Given the description of an element on the screen output the (x, y) to click on. 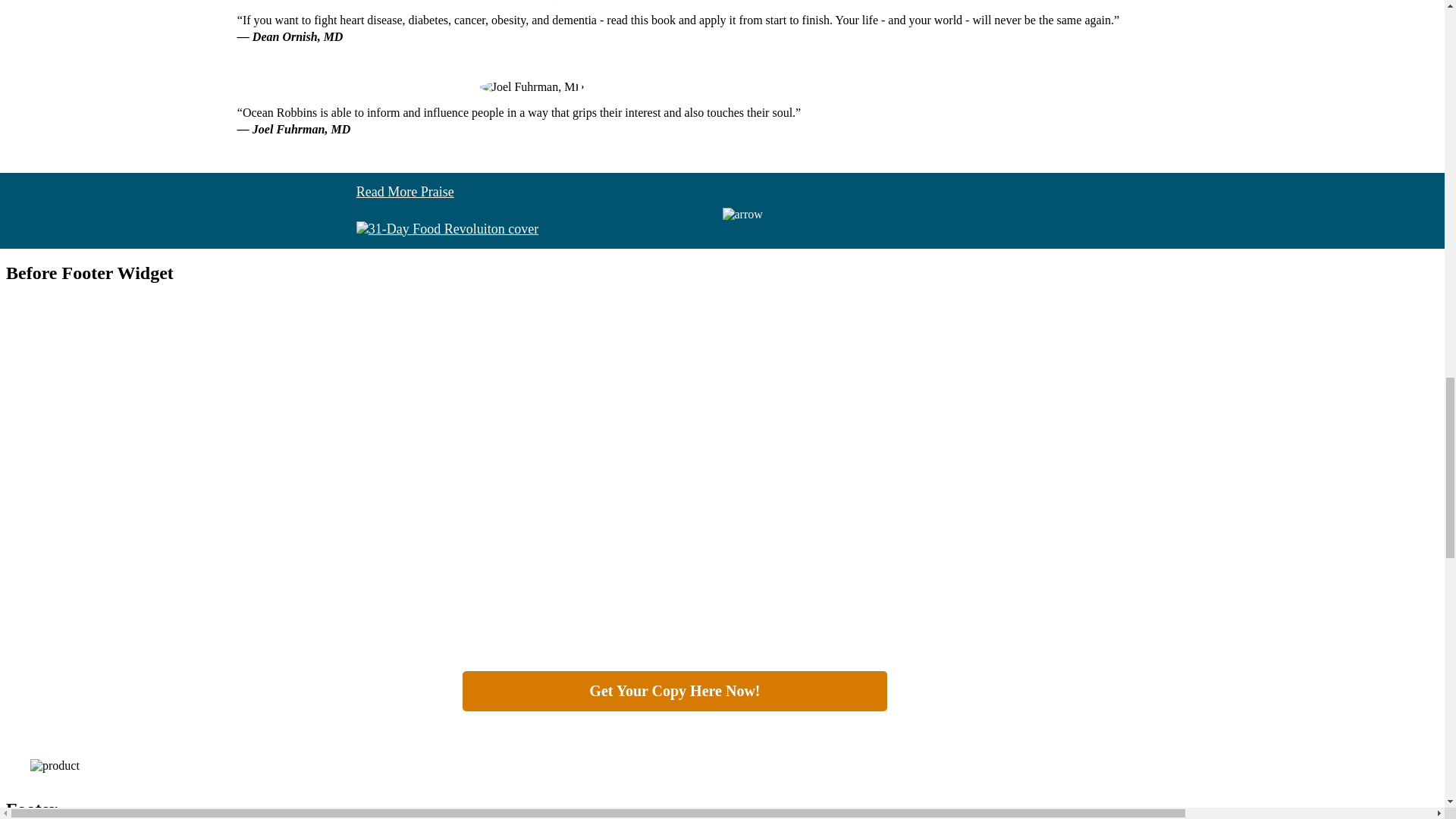
Get Your Copy Here Now! (674, 690)
Read More Praise (405, 191)
